Given the description of an element on the screen output the (x, y) to click on. 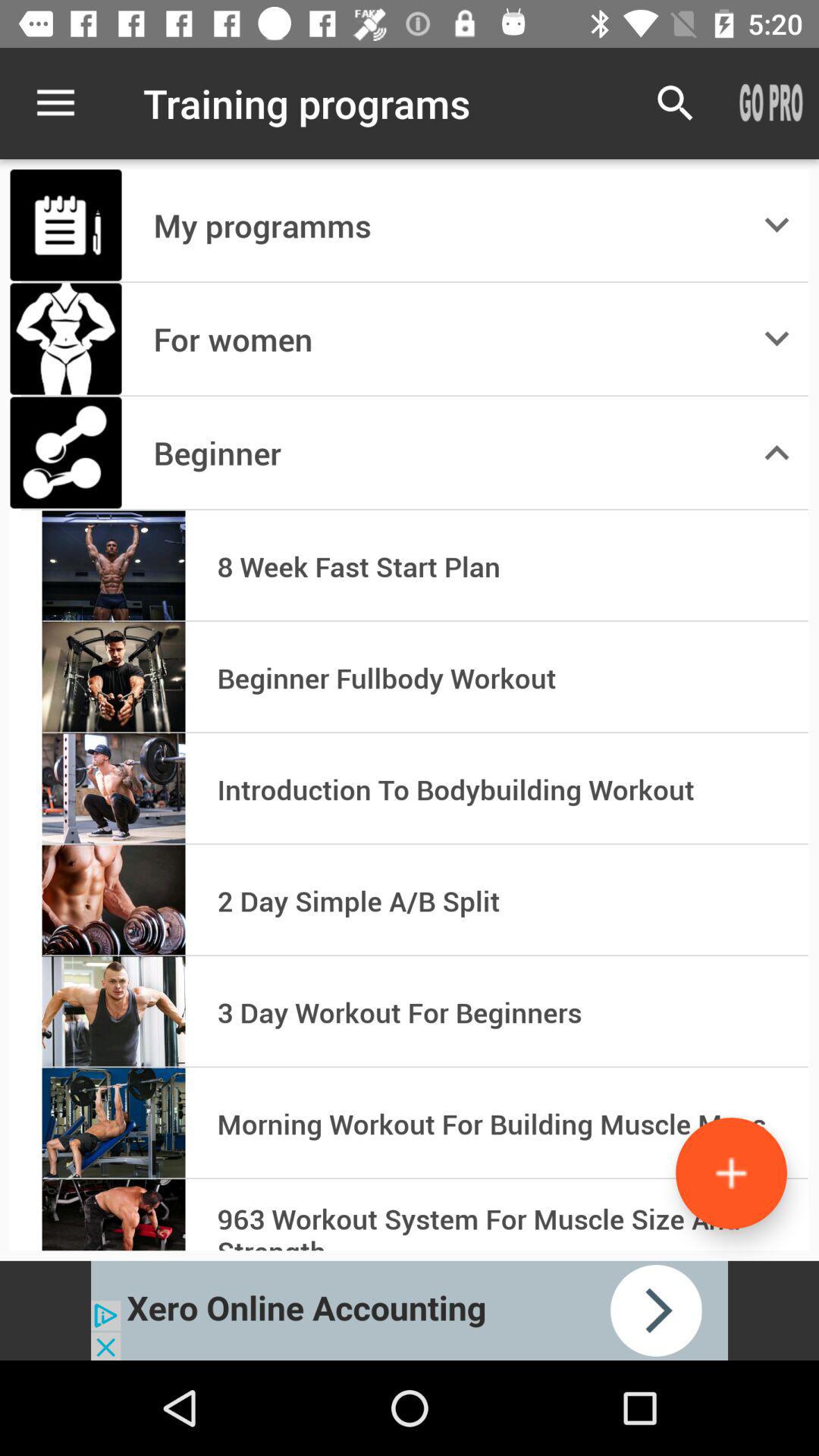
add button (731, 1173)
